Given the description of an element on the screen output the (x, y) to click on. 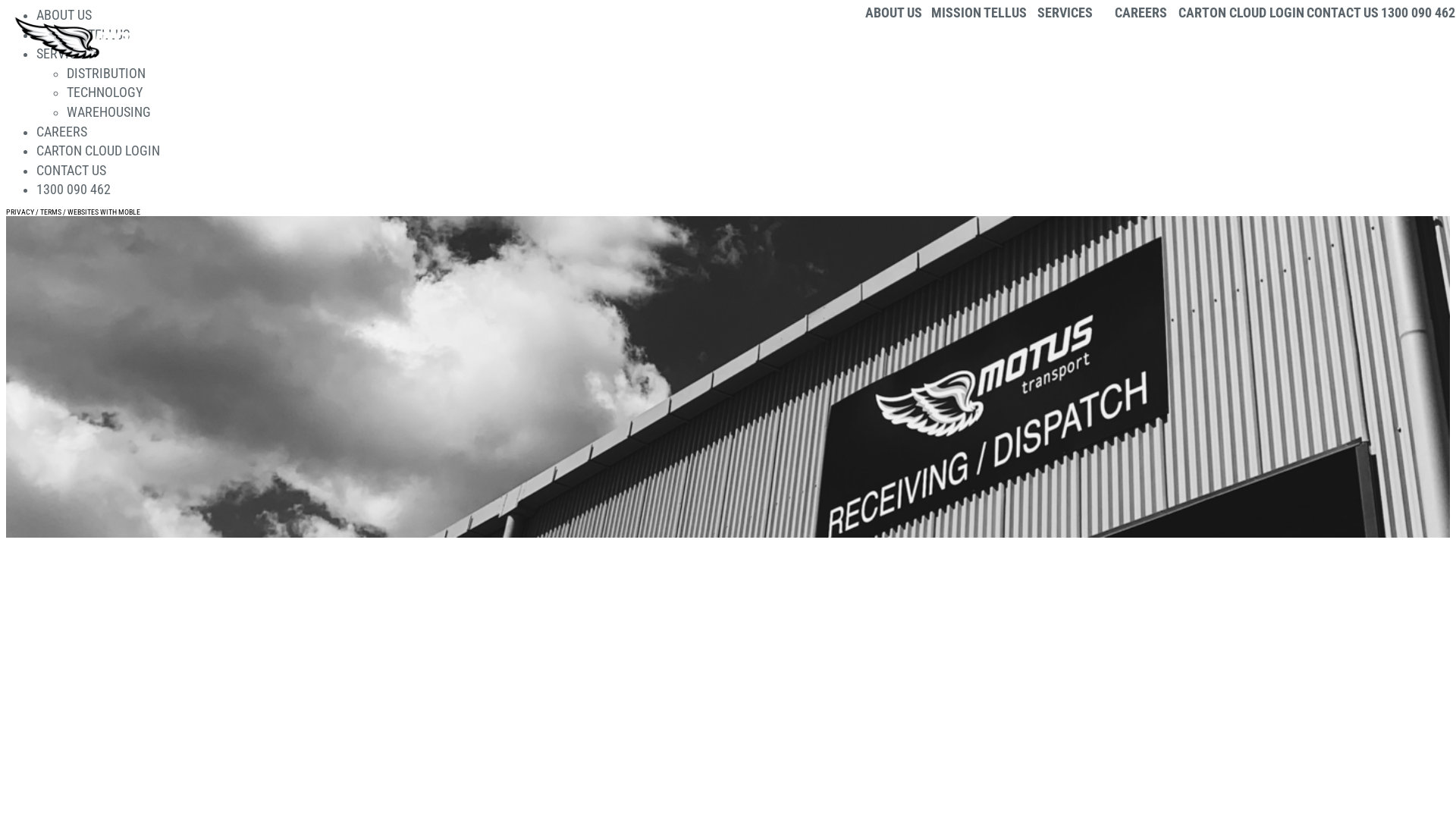
WEBSITES WITH MOBLE Element type: text (103, 211)
SERVICES Element type: text (1064, 13)
CARTON CLOUD LOGIN Element type: text (98, 150)
ABOUT US Element type: text (892, 13)
CONTACT US Element type: text (71, 170)
1300 090 462 Element type: text (73, 189)
SERVICES Element type: text (63, 53)
TERMS Element type: text (50, 211)
TECHNOLOGY Element type: text (104, 92)
ABOUT US Element type: text (63, 14)
PRIVACY Element type: text (20, 211)
1300 090 462 Element type: text (1417, 13)
DISTRIBUTION Element type: text (105, 73)
MISSION TELLUS Element type: text (82, 34)
CONTACT US Element type: text (1341, 13)
MISSION TELLUS Element type: text (978, 13)
CAREERS Element type: text (61, 131)
CARTON CLOUD LOGIN Element type: text (1241, 13)
CAREERS Element type: text (1140, 13)
WAREHOUSING Element type: text (108, 111)
